Given the description of an element on the screen output the (x, y) to click on. 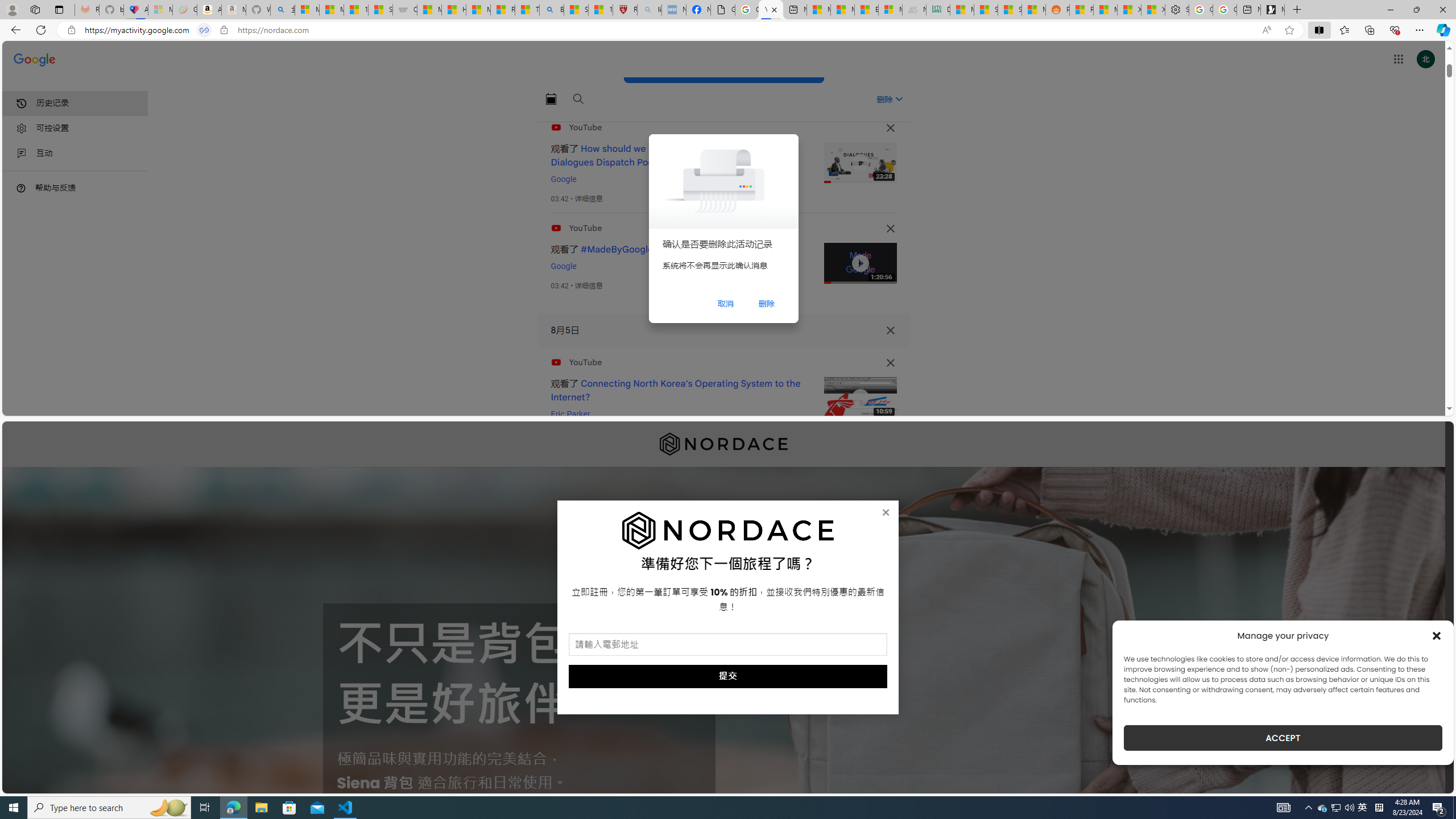
Tabs in split screen (203, 29)
